Given the description of an element on the screen output the (x, y) to click on. 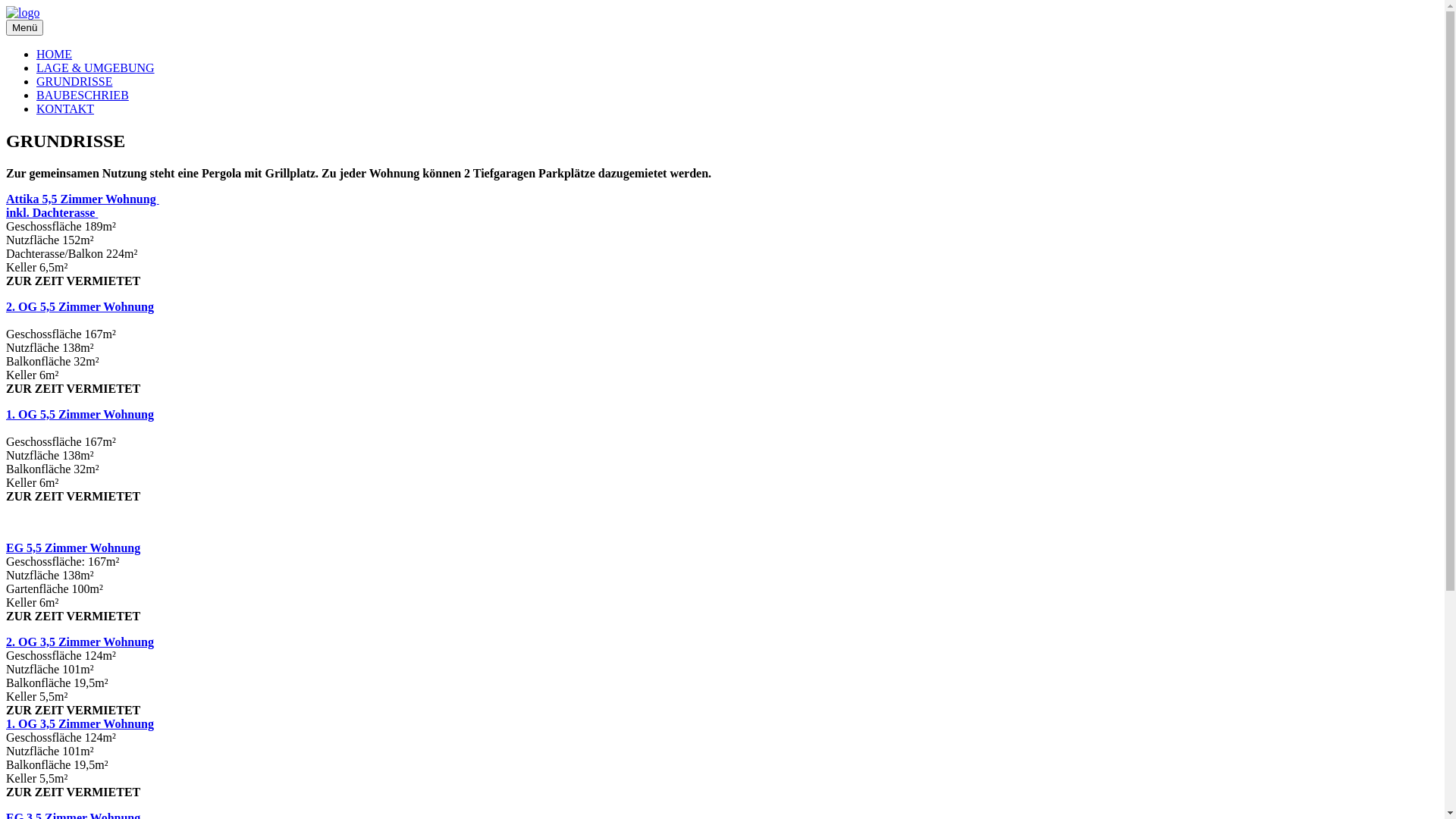
1. OG Element type: text (21, 413)
EG 5,5 Zimmer Wohnung Element type: text (73, 547)
KONTAKT Element type: text (65, 108)
inkl. Dachterasse Element type: text (50, 212)
BAUBESCHRIEB Element type: text (82, 94)
GRUNDRISSE Element type: text (74, 81)
2. OG Element type: text (21, 641)
 3,5 Zimmer Wohnung Element type: text (95, 641)
2 Element type: text (9, 306)
 5,5 Zimmer Wohnung Element type: text (95, 413)
 3,5 Zimmer Wohnung Element type: text (95, 723)
 5,5 Zimmer Wohnung Element type: text (111, 313)
logo Element type: hover (22, 12)
  Element type: text (95, 212)
HOME Element type: text (54, 53)
LAGE & UMGEBUNG Element type: text (95, 67)
. OG Element type: text (24, 306)
Attika 5,5 Zimmer Wohnung  Element type: text (82, 198)
1. OG Element type: text (21, 723)
